Given the description of an element on the screen output the (x, y) to click on. 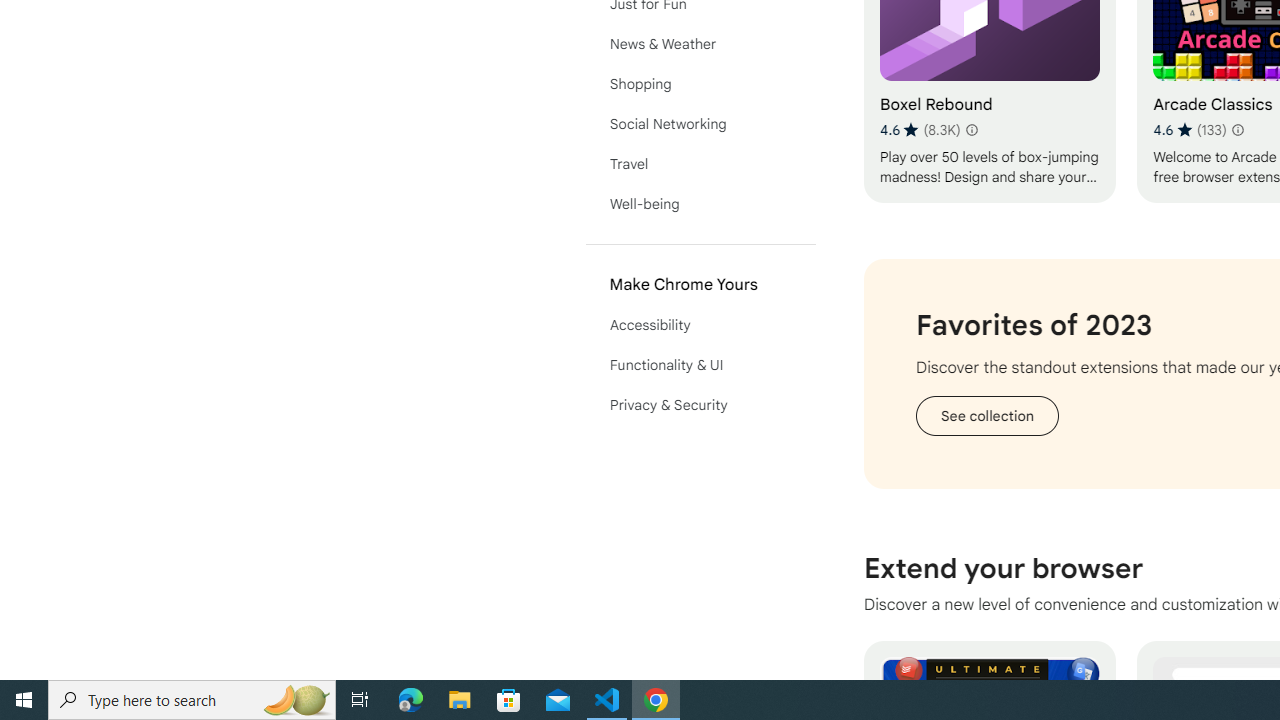
Well-being (700, 203)
Average rating 4.6 out of 5 stars. 8.3K ratings. (920, 129)
Learn more about results and reviews "Boxel Rebound" (971, 129)
Functionality & UI (700, 364)
News & Weather (700, 43)
Shopping (700, 83)
Average rating 4.6 out of 5 stars. 133 ratings. (1189, 129)
Accessibility (700, 324)
Travel (700, 164)
Privacy & Security (700, 404)
See the "Favorites of 2023" collection (986, 415)
Learn more about results and reviews "Arcade Classics" (1237, 129)
Social Networking (700, 123)
